Given the description of an element on the screen output the (x, y) to click on. 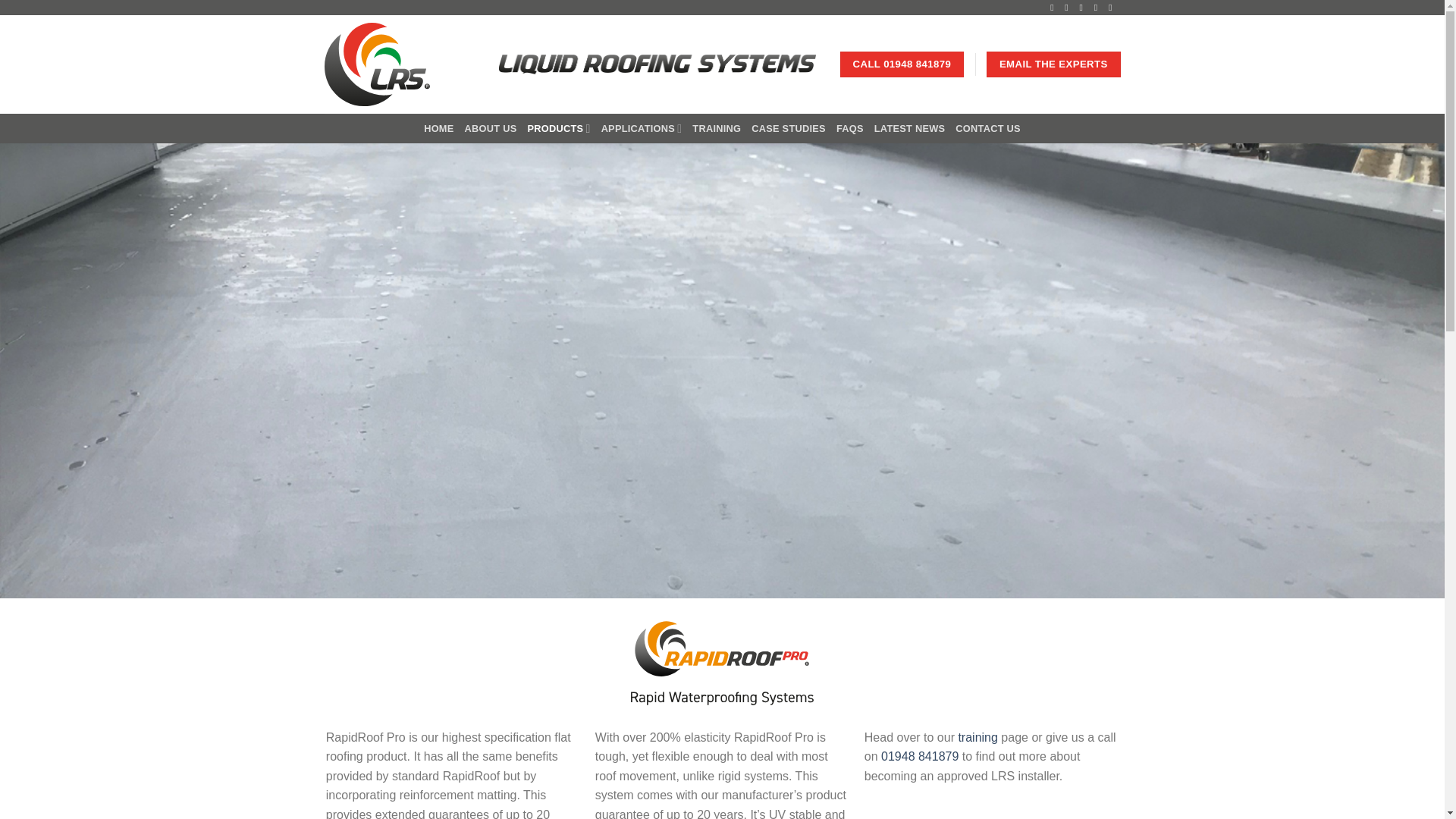
PRODUCTS (558, 128)
HOME (437, 128)
EMAIL THE EXPERTS (1053, 63)
ABOUT US (490, 128)
APPLICATIONS (641, 128)
CALL 01948 841879 (901, 63)
LRS - Liquid Roofing Systems (400, 64)
TRAINING (717, 128)
